Given the description of an element on the screen output the (x, y) to click on. 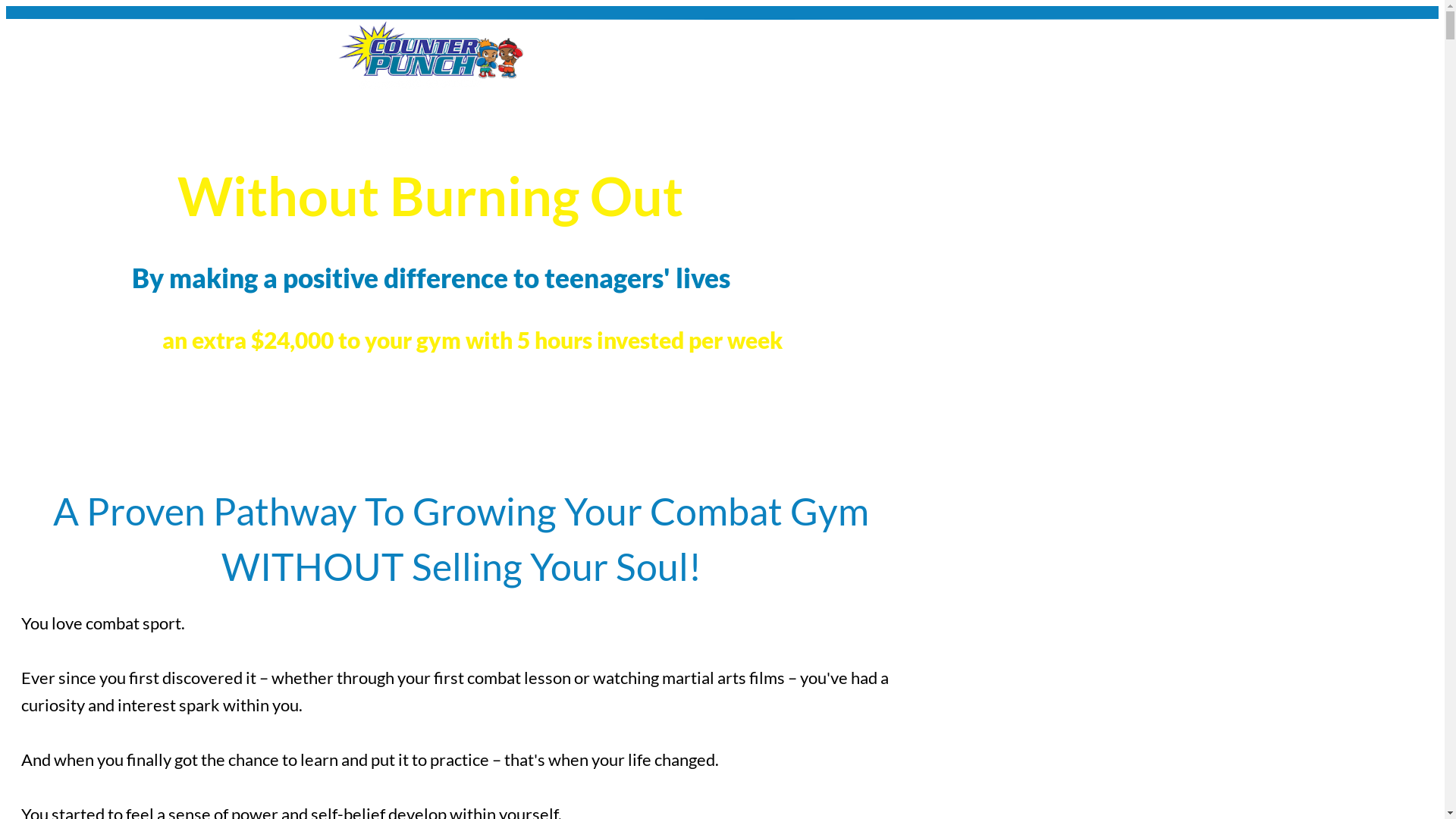
CounterPunch-HD-Logo-[Website] 3 Element type: hover (430, 54)
